Given the description of an element on the screen output the (x, y) to click on. 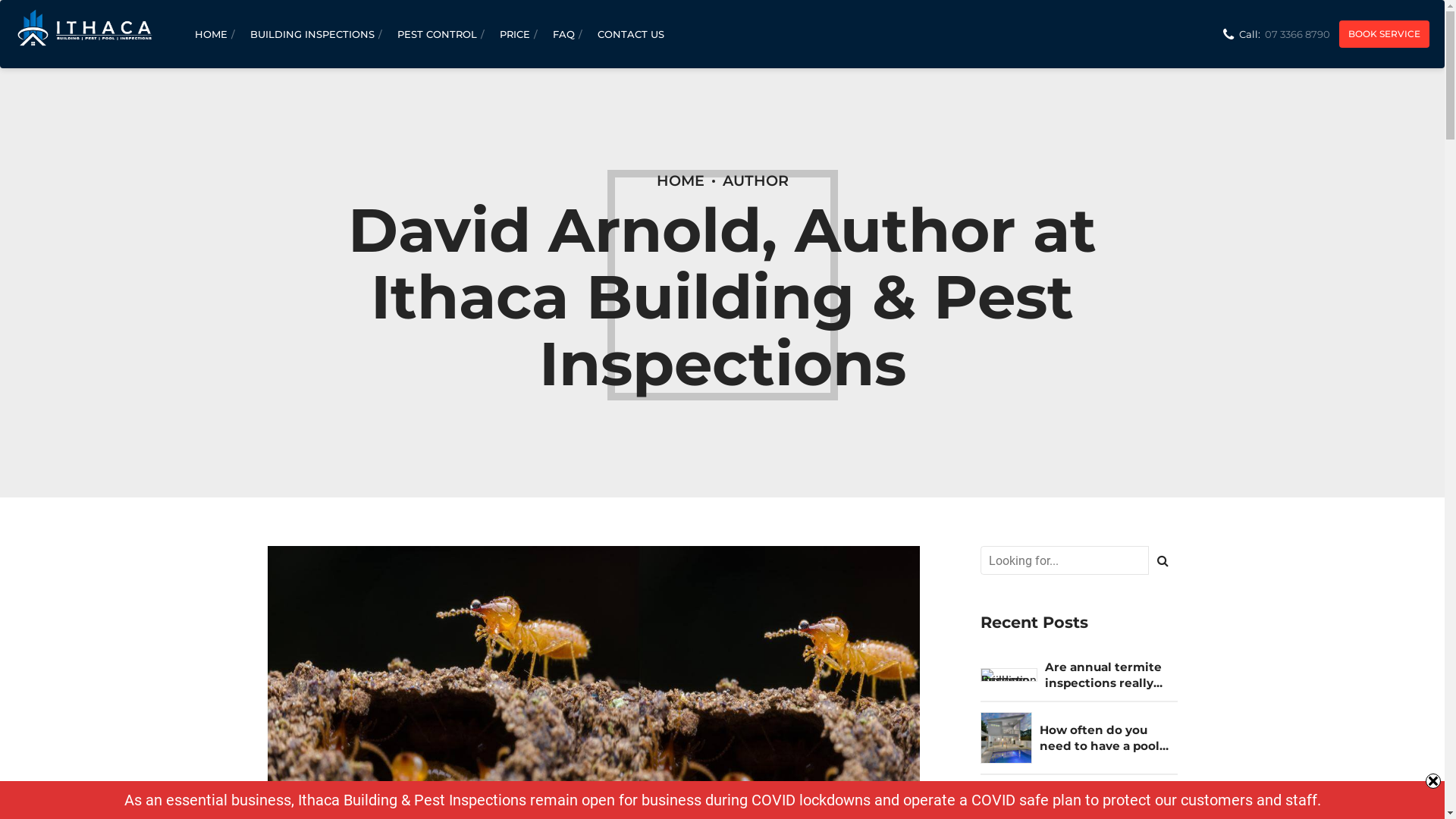
BOOK SERVICE Element type: text (1384, 33)
Are annual termite inspections really necessary? Element type: text (1113, 674)
CONTACT US Element type: text (630, 34)
FAQ Element type: text (563, 34)
HOME Element type: text (680, 180)
BUILDING INSPECTIONS Element type: text (312, 34)
Call: 07 3366 8790 Element type: text (1275, 34)
HOME Element type: text (210, 34)
How often do you need to have a pool inspection done? Element type: text (1107, 737)
PRICE Element type: text (514, 34)
PEST CONTROL Element type: text (436, 34)
